Given the description of an element on the screen output the (x, y) to click on. 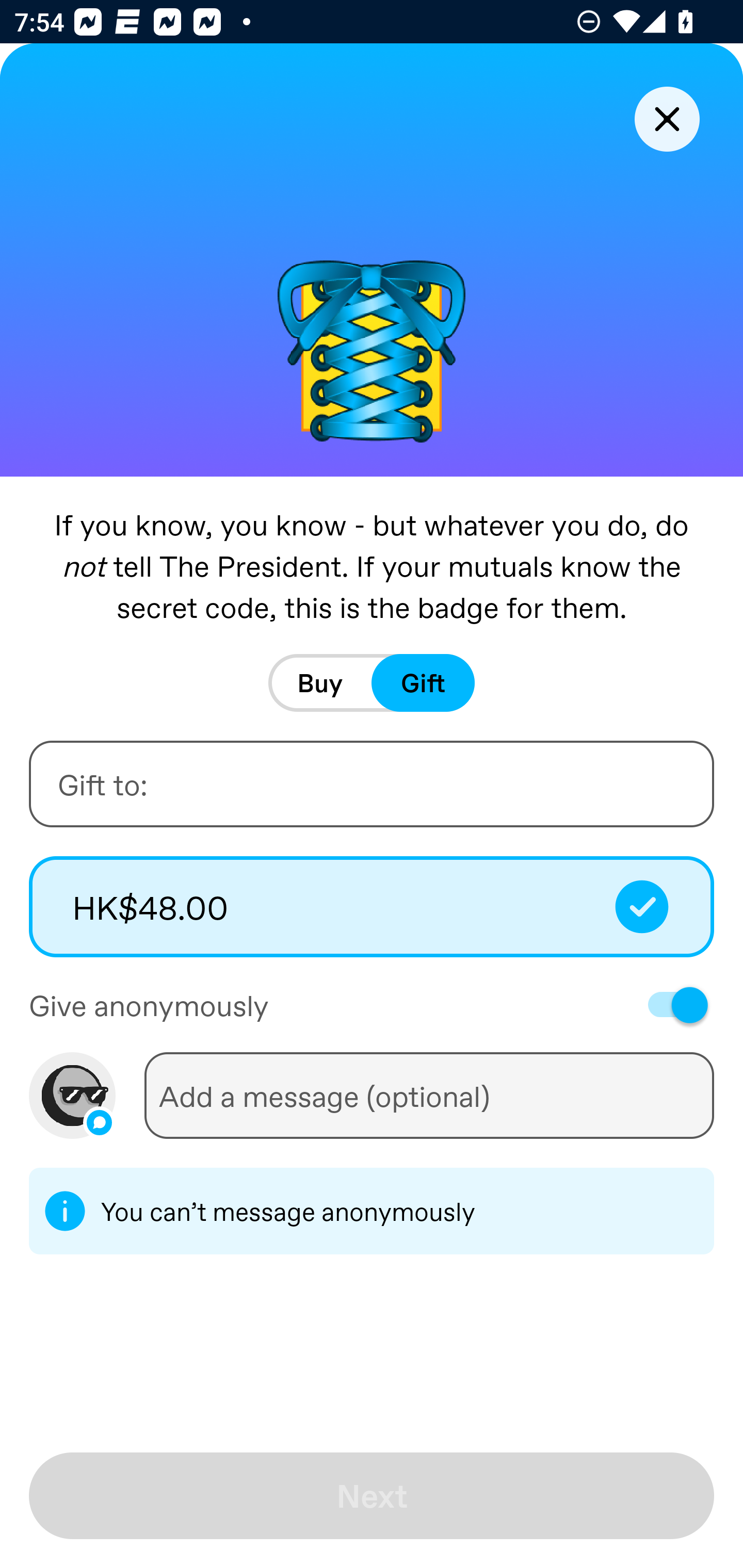
Buy (319, 682)
Gift (423, 682)
Gift to: (371, 783)
Add a message (optional) (429, 1095)
Next (371, 1495)
